Given the description of an element on the screen output the (x, y) to click on. 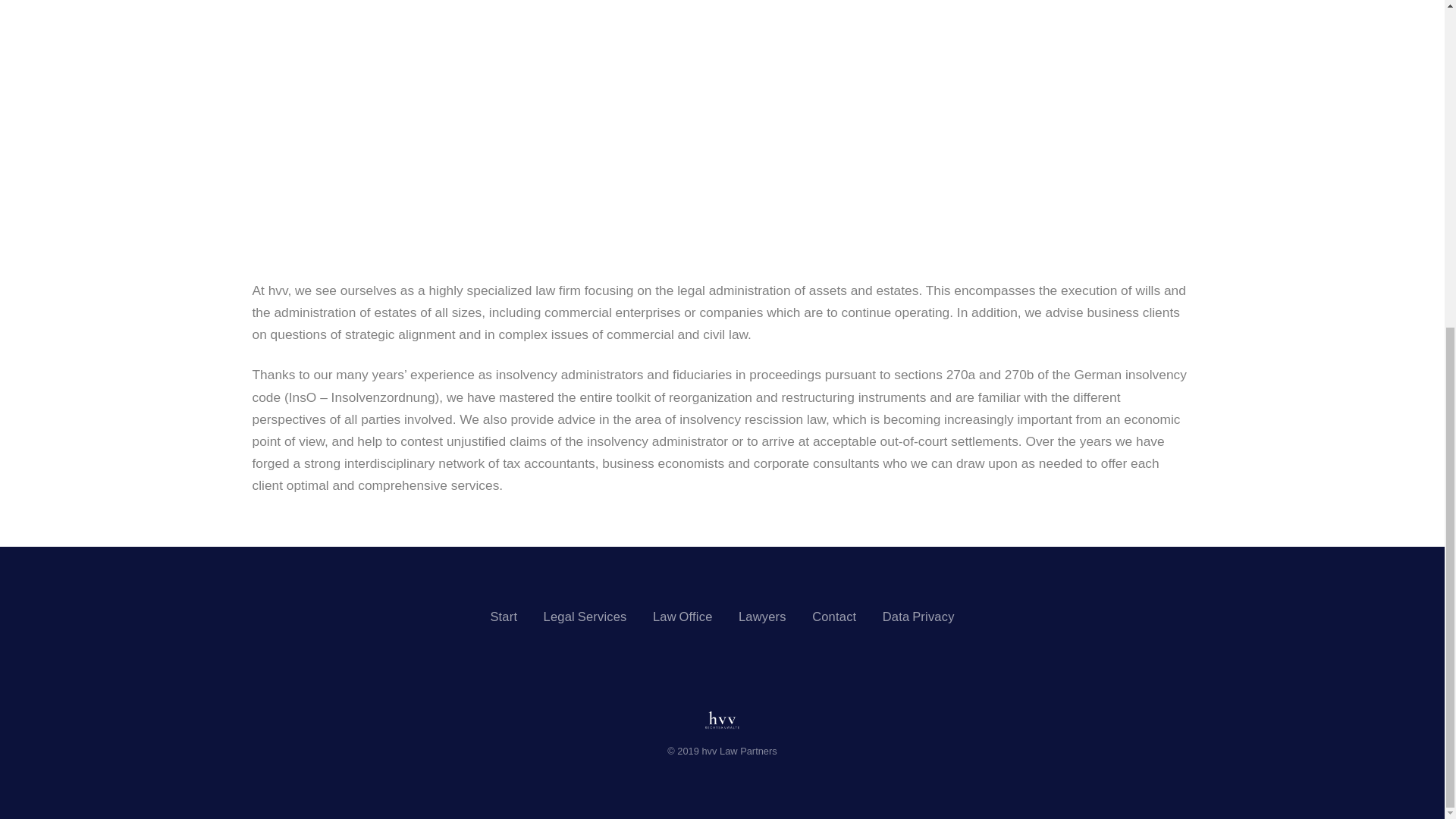
Data Privacy (918, 616)
Lawyers (762, 616)
Legal Services (585, 616)
Law Office (682, 616)
Contact (834, 616)
Start (502, 616)
